Given the description of an element on the screen output the (x, y) to click on. 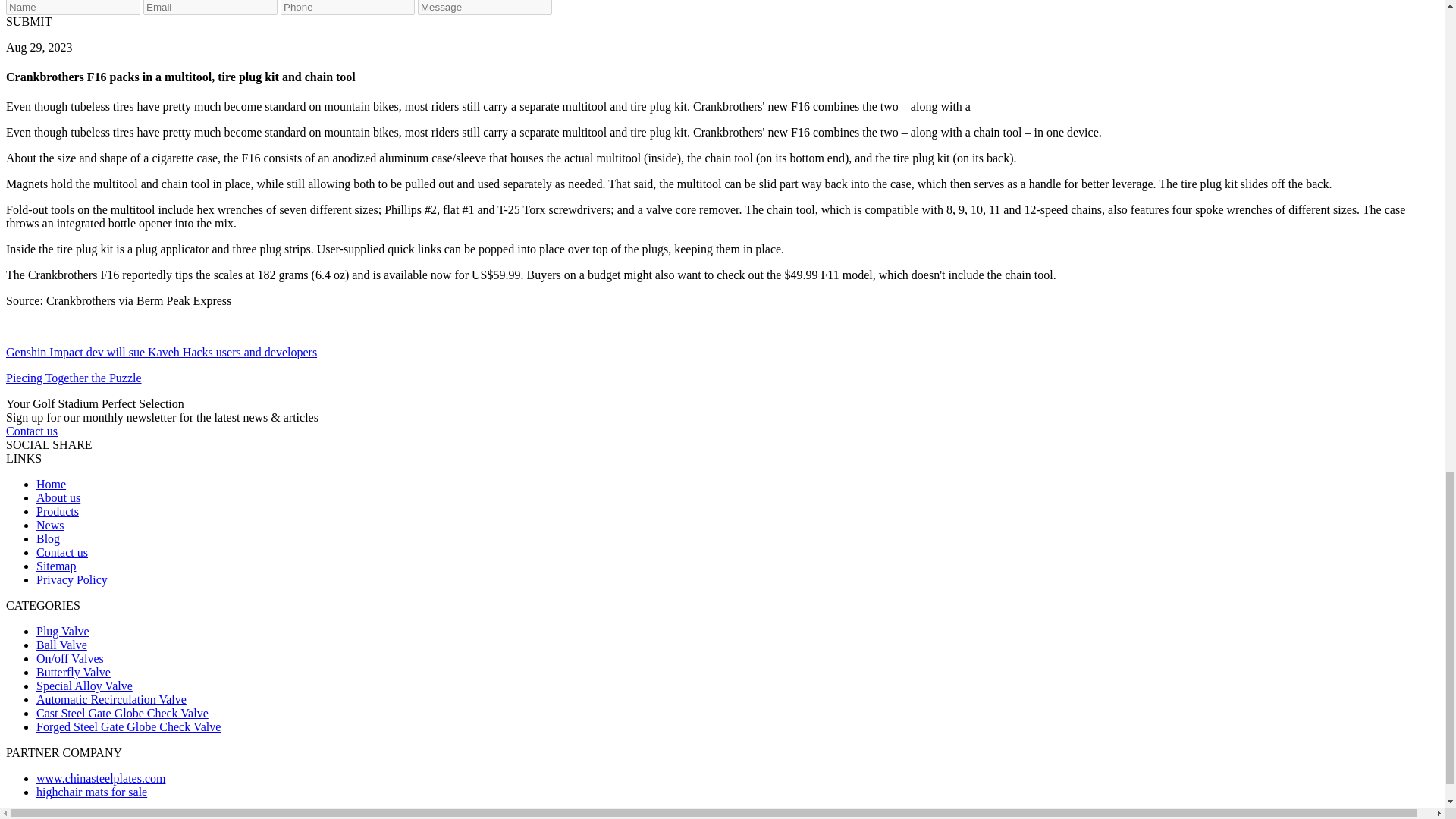
Contact us (31, 431)
Genshin Impact dev will sue Kaveh Hacks users and developers (161, 351)
Piecing Together the Puzzle (73, 377)
